Given the description of an element on the screen output the (x, y) to click on. 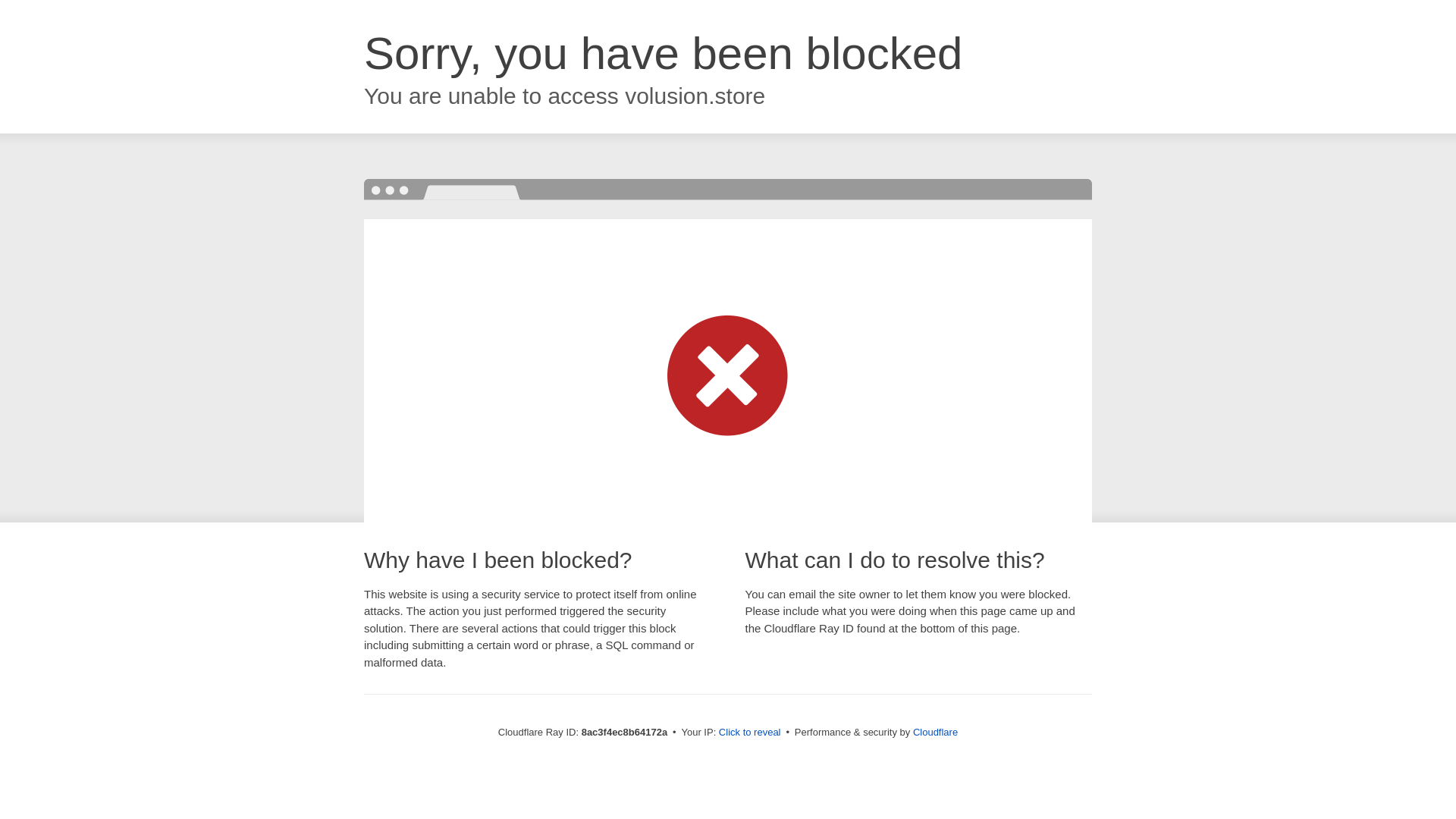
Click to reveal (749, 732)
Cloudflare (935, 731)
